Given the description of an element on the screen output the (x, y) to click on. 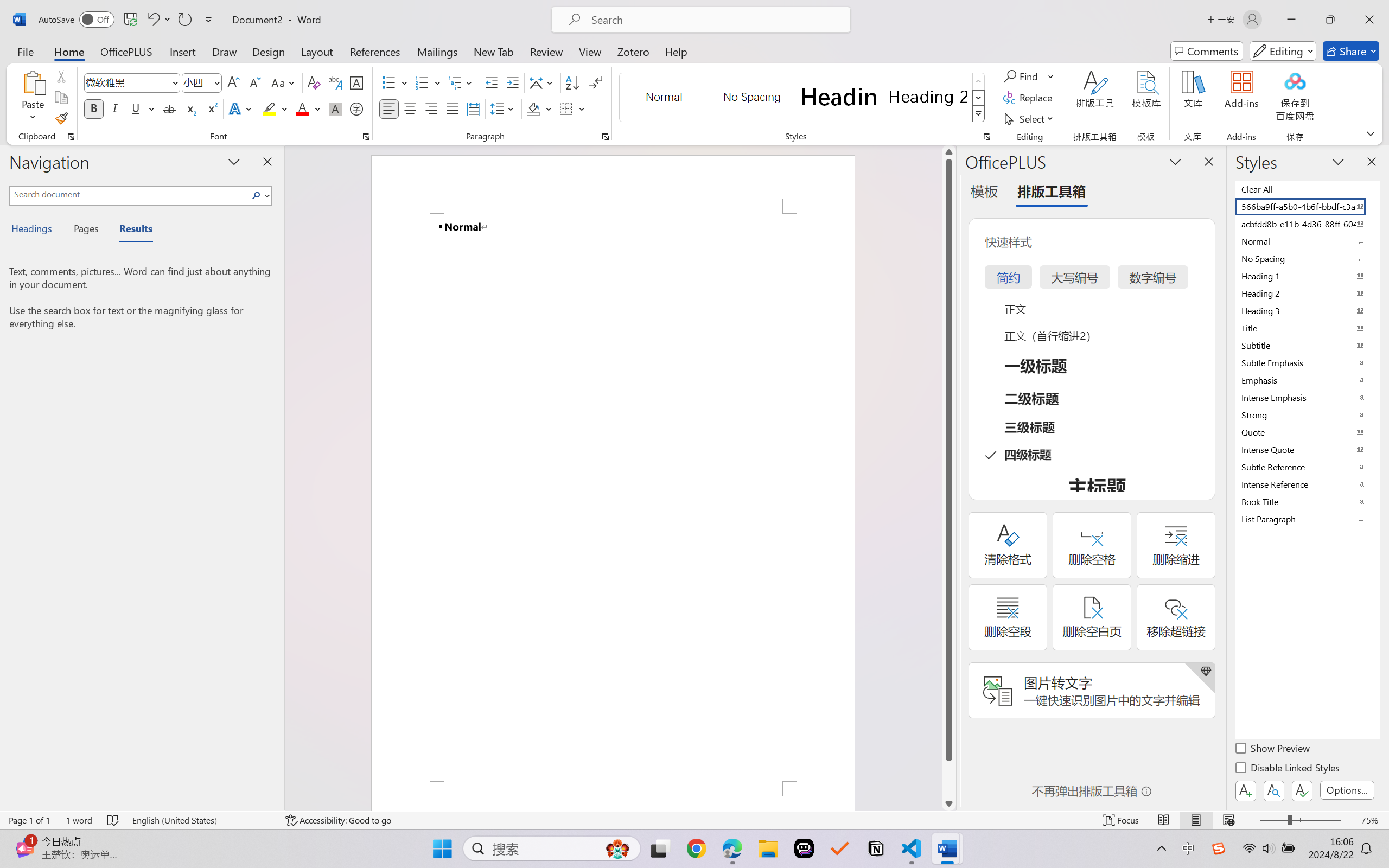
Styles... (986, 136)
Multilevel List (461, 82)
AutomationID: DynamicSearchBoxGleamImage (617, 848)
Office Clipboard... (70, 136)
Class: NetUIImage (978, 114)
Focus  (1121, 819)
Font... (365, 136)
Class: Image (1218, 847)
Class: NetUIButton (1301, 790)
Underline (135, 108)
List Paragraph (1306, 518)
